Given the description of an element on the screen output the (x, y) to click on. 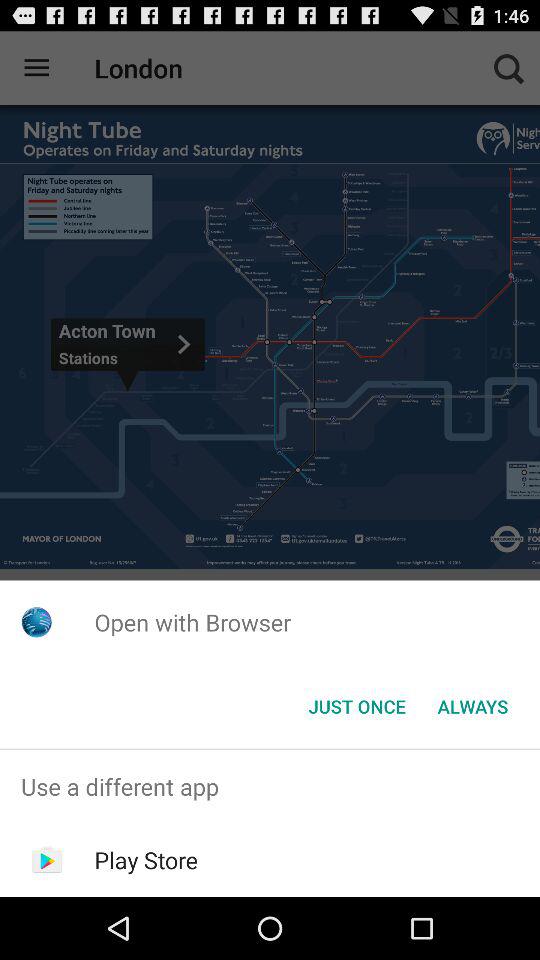
jump until the just once item (356, 706)
